Given the description of an element on the screen output the (x, y) to click on. 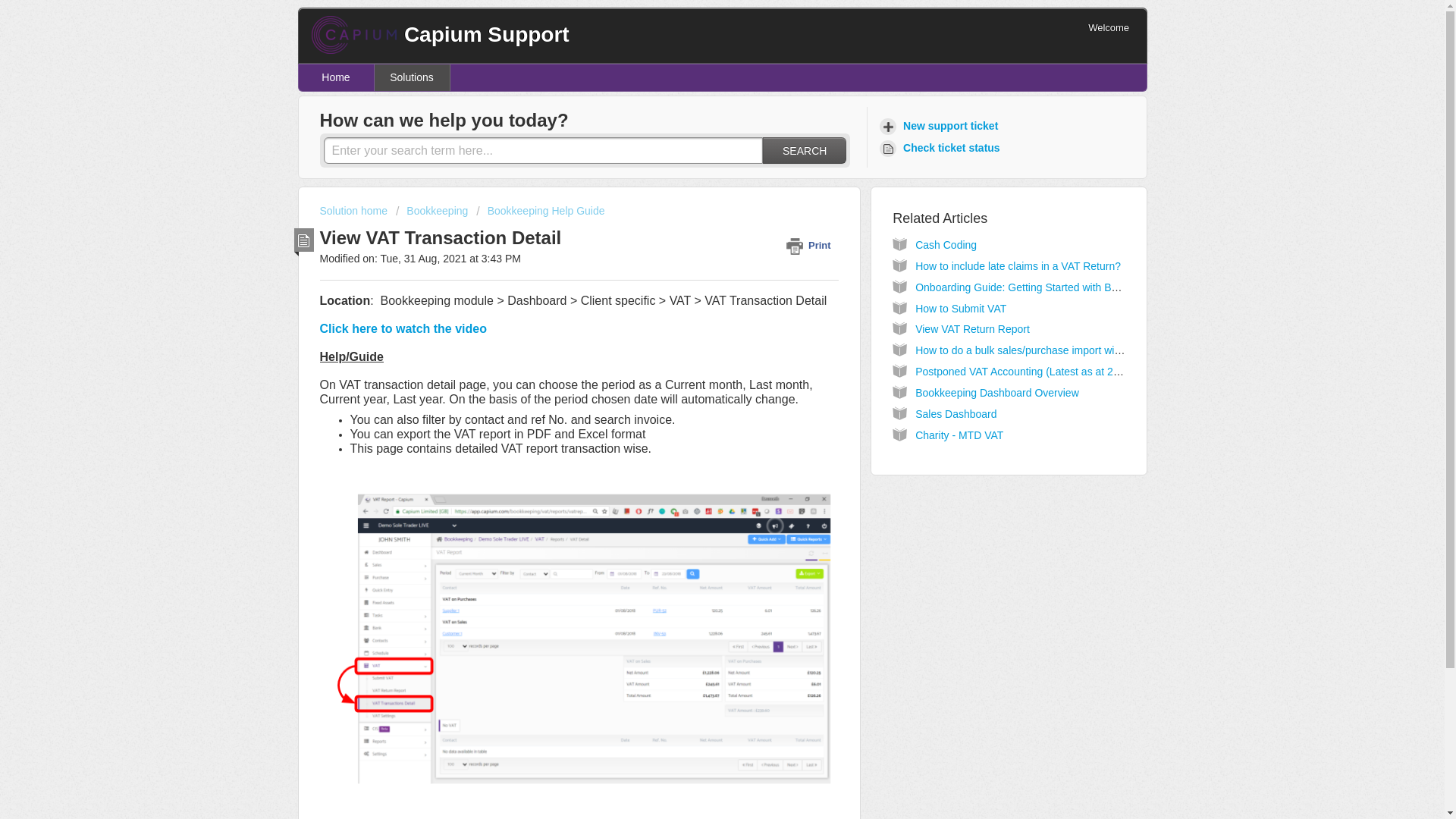
How to include late claims in a VAT Return? (1018, 265)
Bookkeeping (431, 210)
Home (336, 77)
Bookkeeping Dashboard Overview (996, 392)
Charity - MTD VAT (959, 435)
Onboarding Guide: Getting Started with Bookkeeping (1040, 287)
Click here to watch the video (403, 328)
Check ticket status (941, 147)
View VAT Return Report (972, 328)
Cash Coding (945, 244)
Solutions (411, 77)
New support ticket (940, 126)
How to Submit VAT (960, 308)
Print (812, 244)
Bookkeeping Help Guide (540, 210)
